Given the description of an element on the screen output the (x, y) to click on. 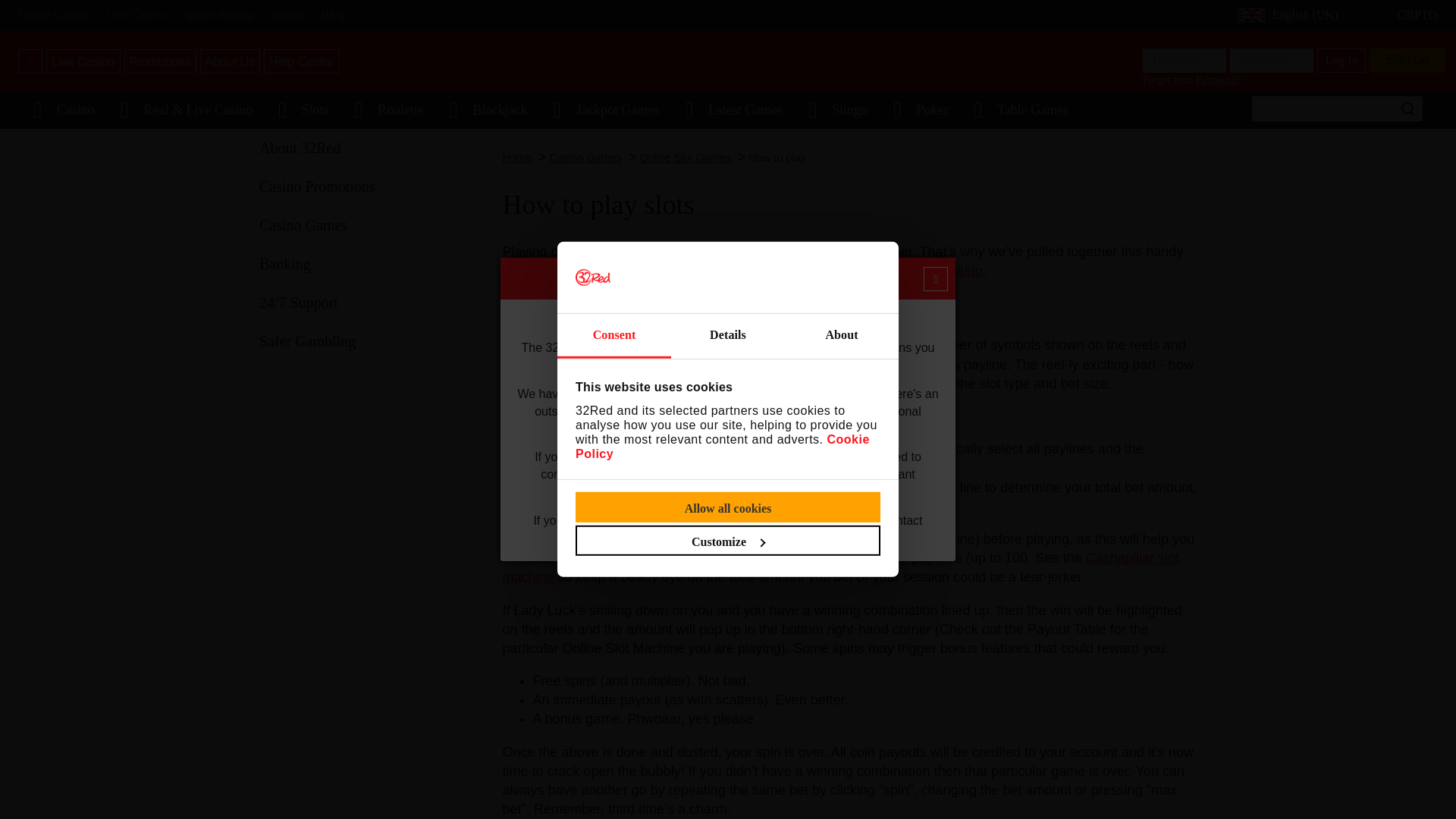
About (841, 335)
Cookie Policy (722, 446)
Consent (614, 335)
Details (727, 335)
